Given the description of an element on the screen output the (x, y) to click on. 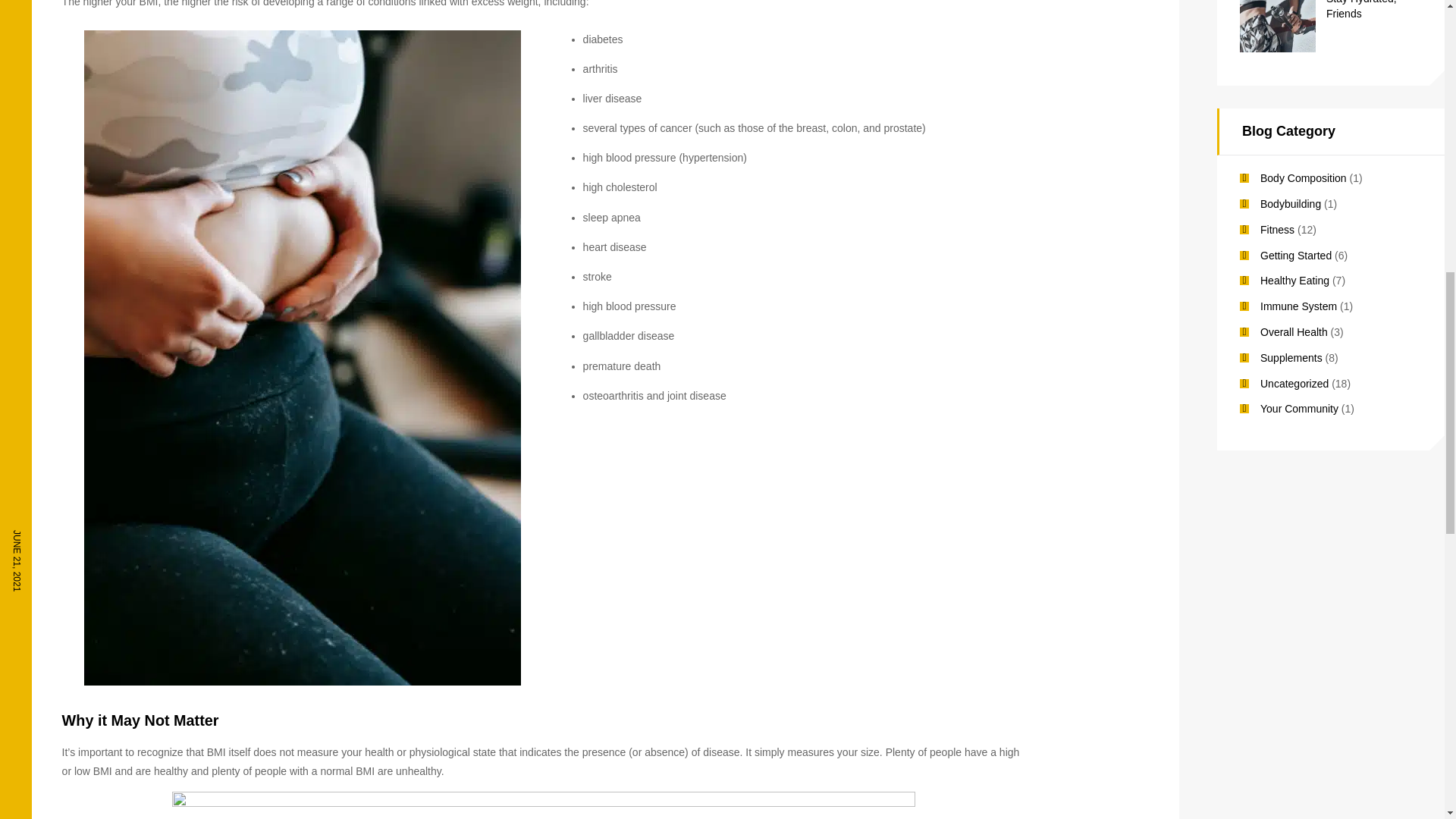
Body Composition (1303, 177)
Your Community (1299, 408)
Bodybuilding (1290, 203)
Overall Health (1293, 331)
Stay Hydrated, Friends (1374, 11)
Getting Started (1296, 255)
Fitness (1277, 229)
Healthy Eating (1294, 280)
Uncategorized (1293, 383)
Supplements (1291, 357)
JUNE 21, 2021 (16, 560)
Immune System (1298, 306)
